Given the description of an element on the screen output the (x, y) to click on. 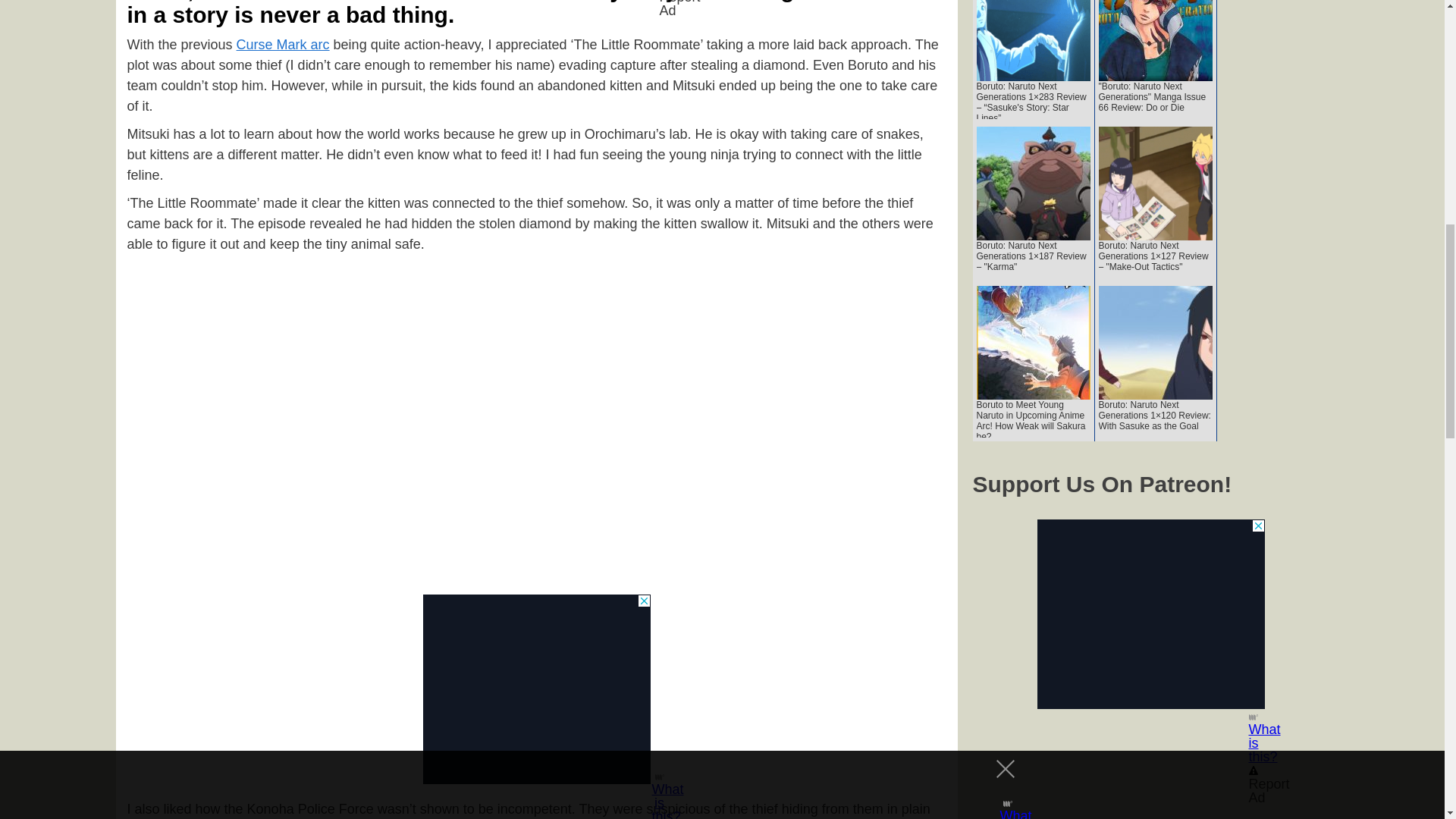
3rd party ad content (536, 688)
3rd party ad content (1150, 614)
